Given the description of an element on the screen output the (x, y) to click on. 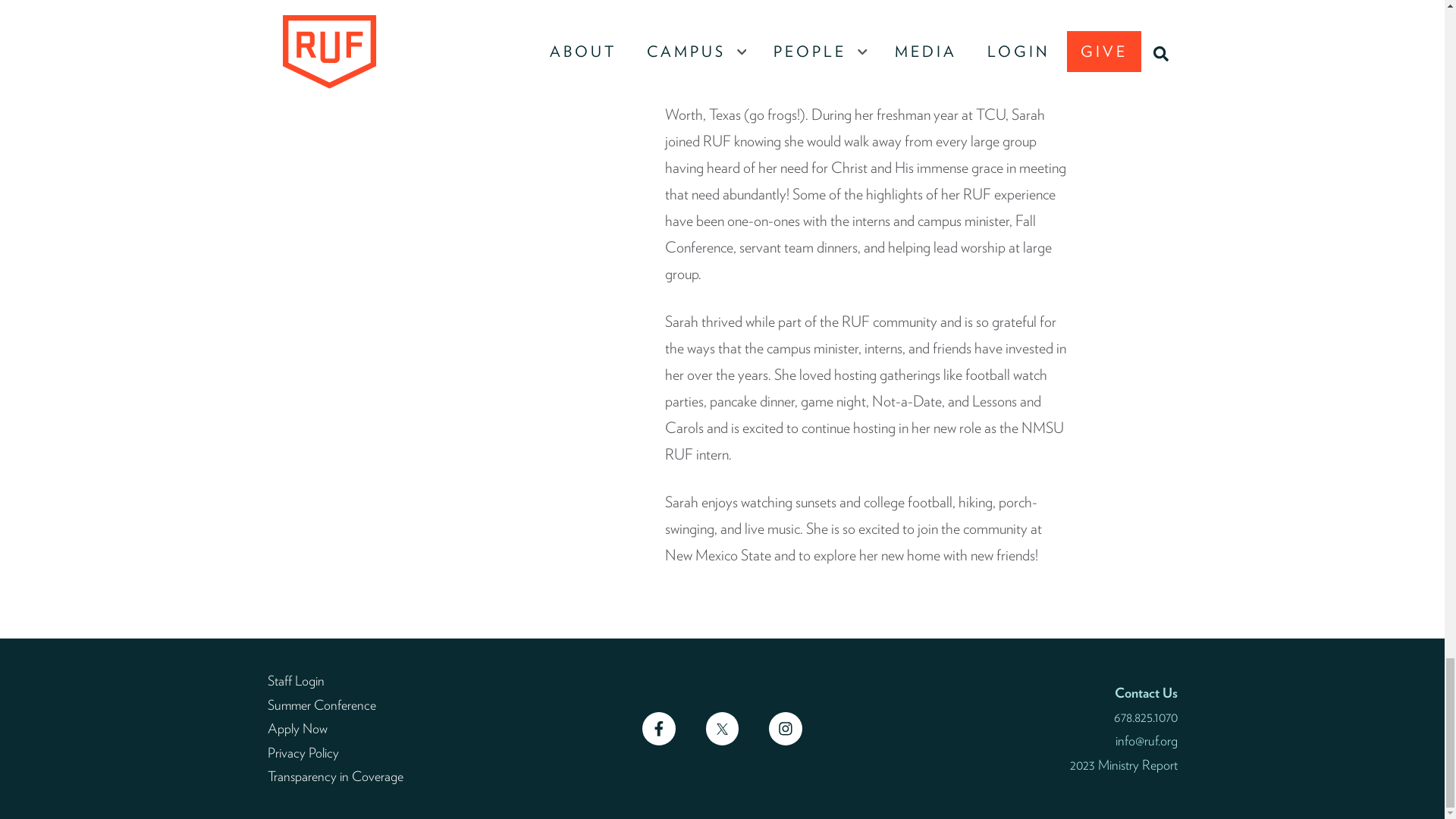
Privacy Policy (301, 752)
GIVE NOW (727, 2)
Staff Login (294, 680)
Apply Now (296, 728)
Summer Conference (320, 704)
Transparency in Coverage (334, 775)
